Given the description of an element on the screen output the (x, y) to click on. 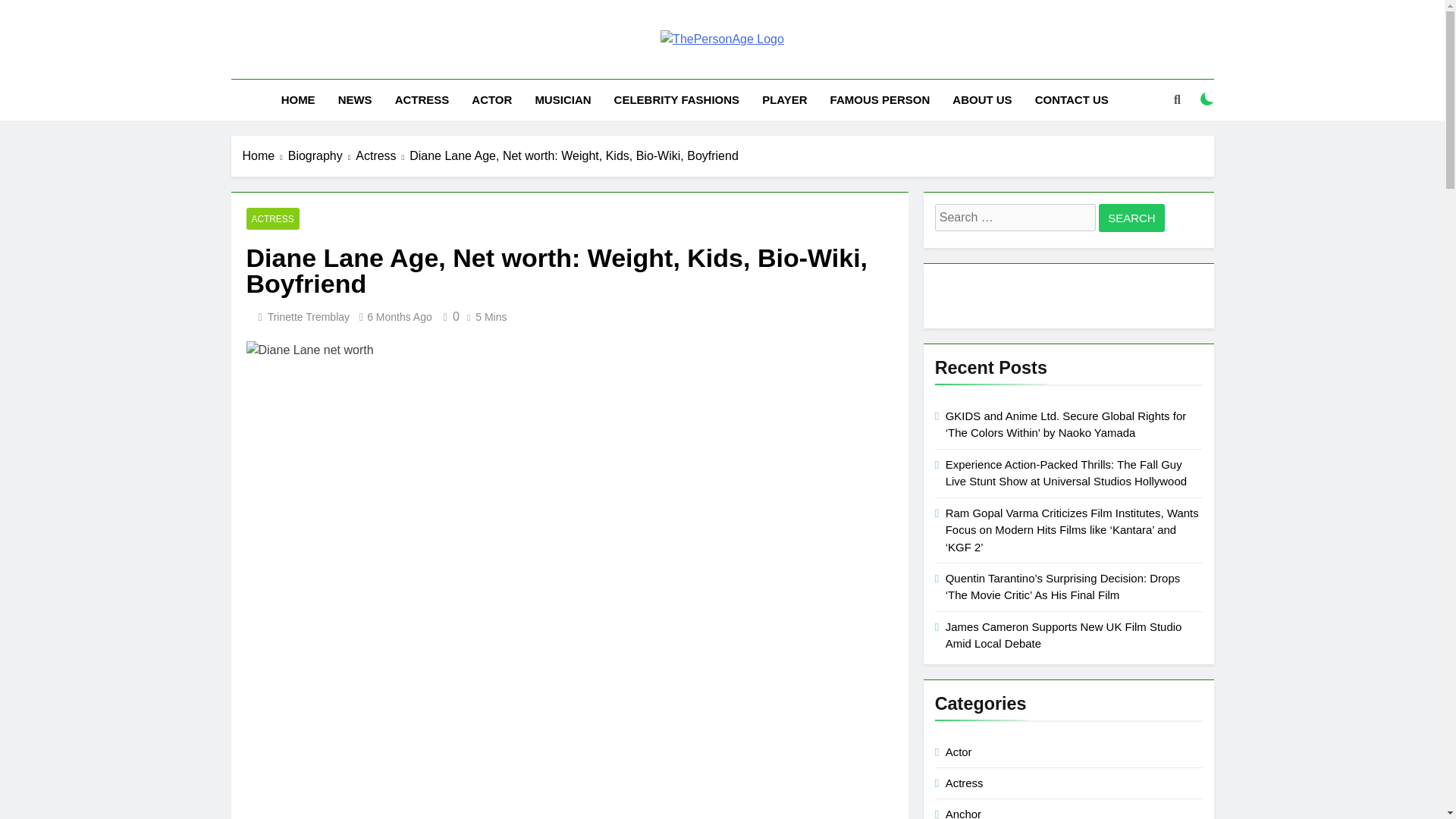
Actress (382, 156)
ABOUT US (981, 99)
0 (449, 316)
CELEBRITY FASHIONS (676, 99)
Search (1131, 217)
Home (265, 156)
Biography (322, 156)
Search (1131, 217)
6 Months Ago (399, 316)
NEWS (355, 99)
